Given the description of an element on the screen output the (x, y) to click on. 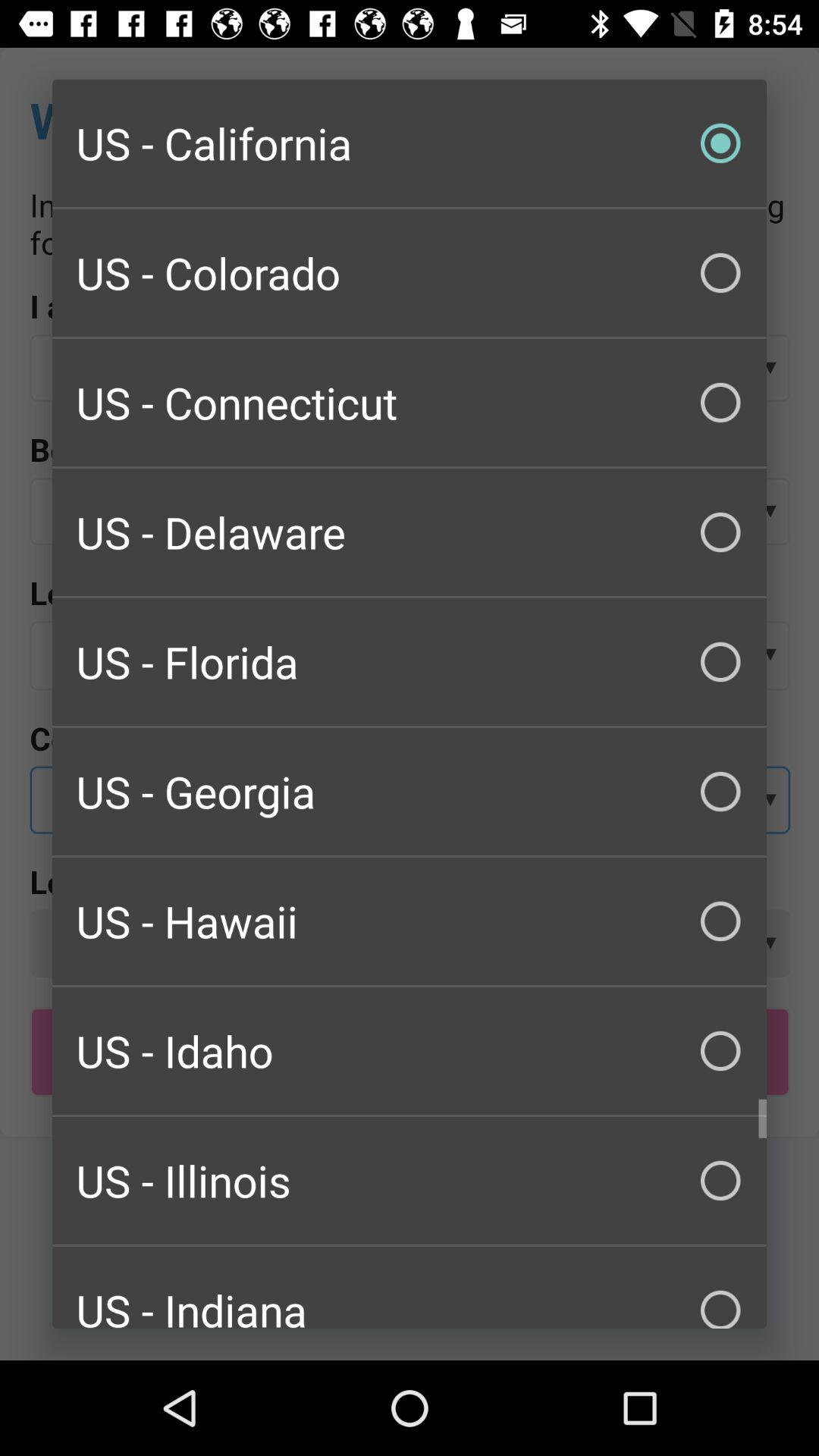
jump to us - hawaii checkbox (409, 921)
